Given the description of an element on the screen output the (x, y) to click on. 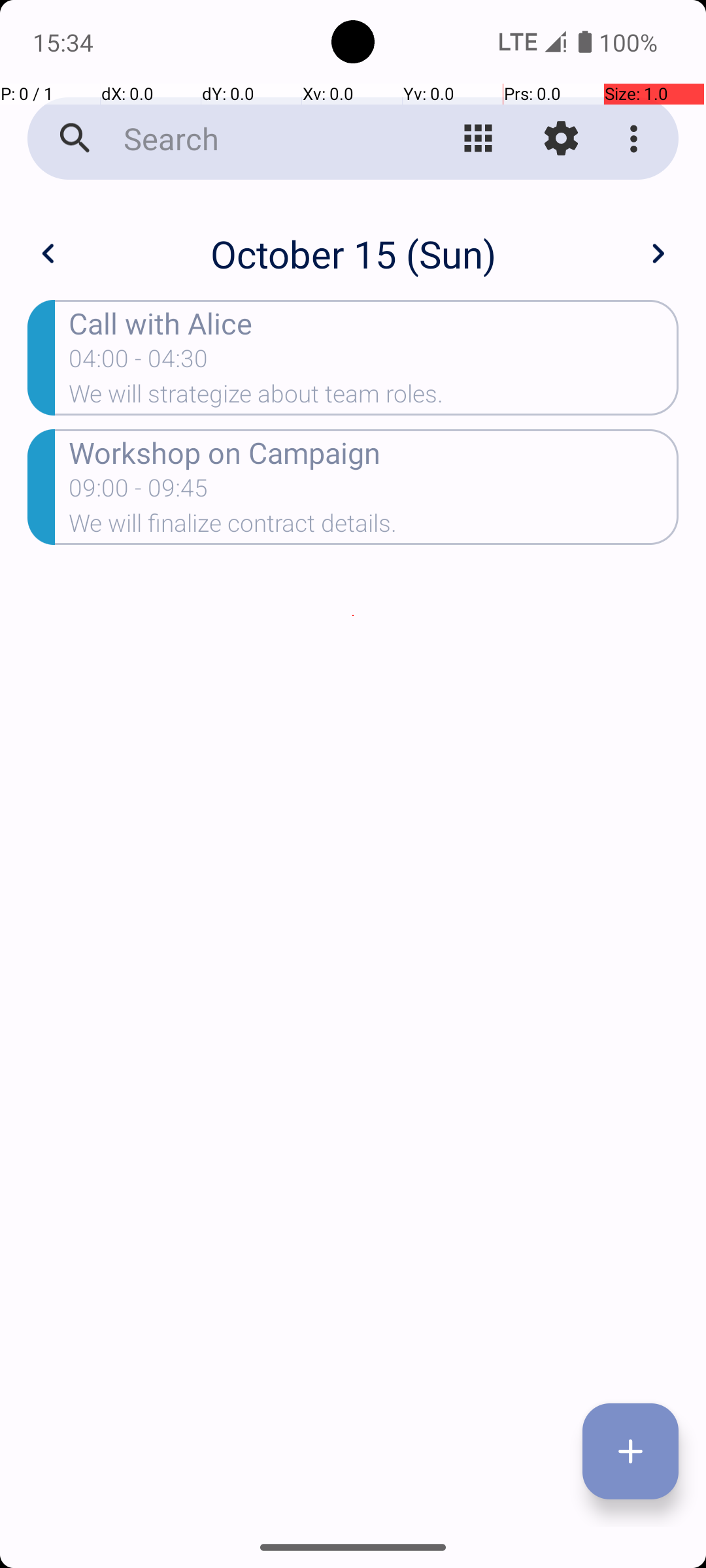
04:00 - 04:30 Element type: android.widget.TextView (137, 362)
We will strategize about team roles. Element type: android.widget.TextView (373, 397)
09:00 - 09:45 Element type: android.widget.TextView (137, 491)
We will finalize contract details. Element type: android.widget.TextView (373, 526)
